Given the description of an element on the screen output the (x, y) to click on. 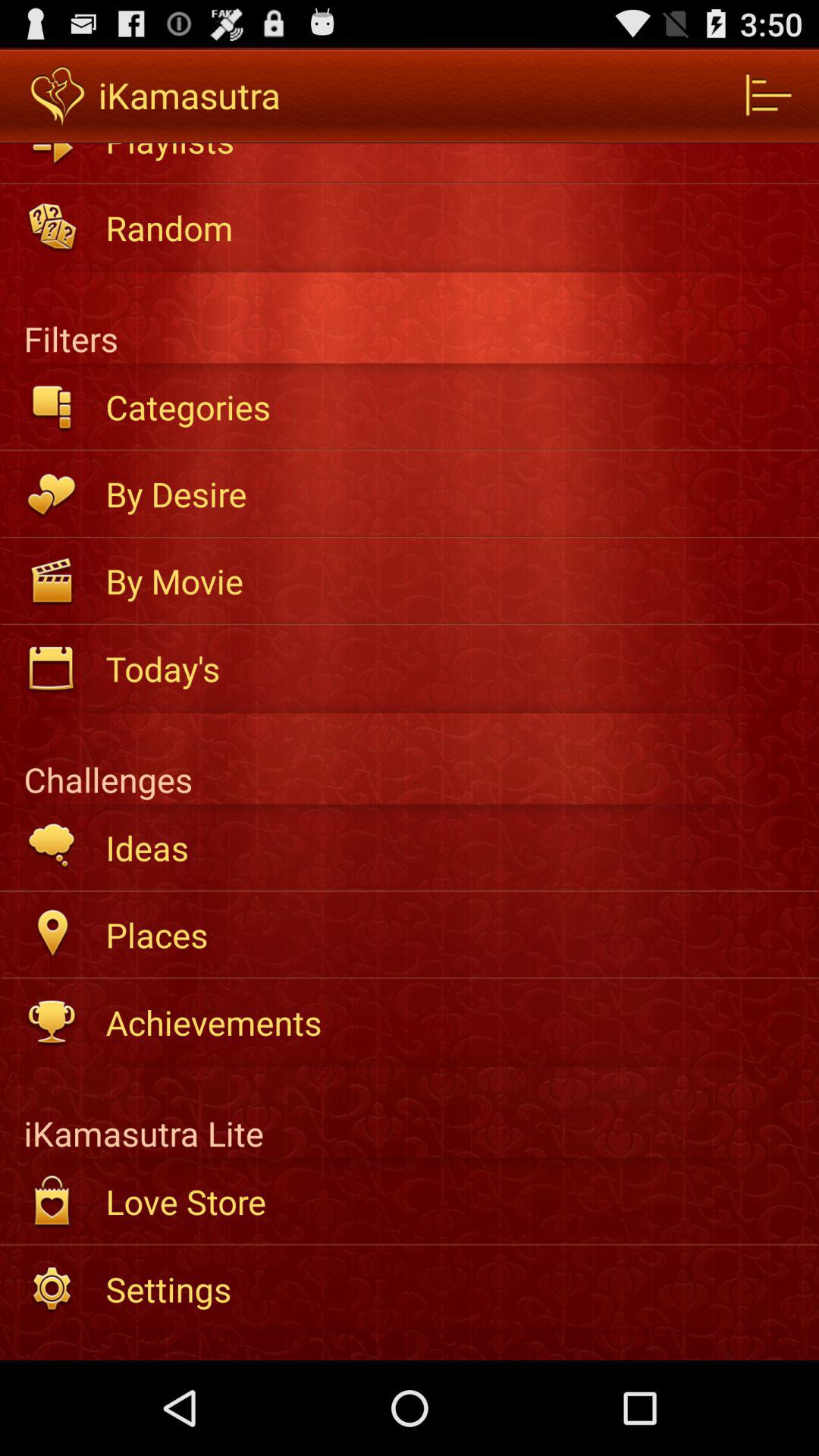
jump to the filters app (409, 317)
